Given the description of an element on the screen output the (x, y) to click on. 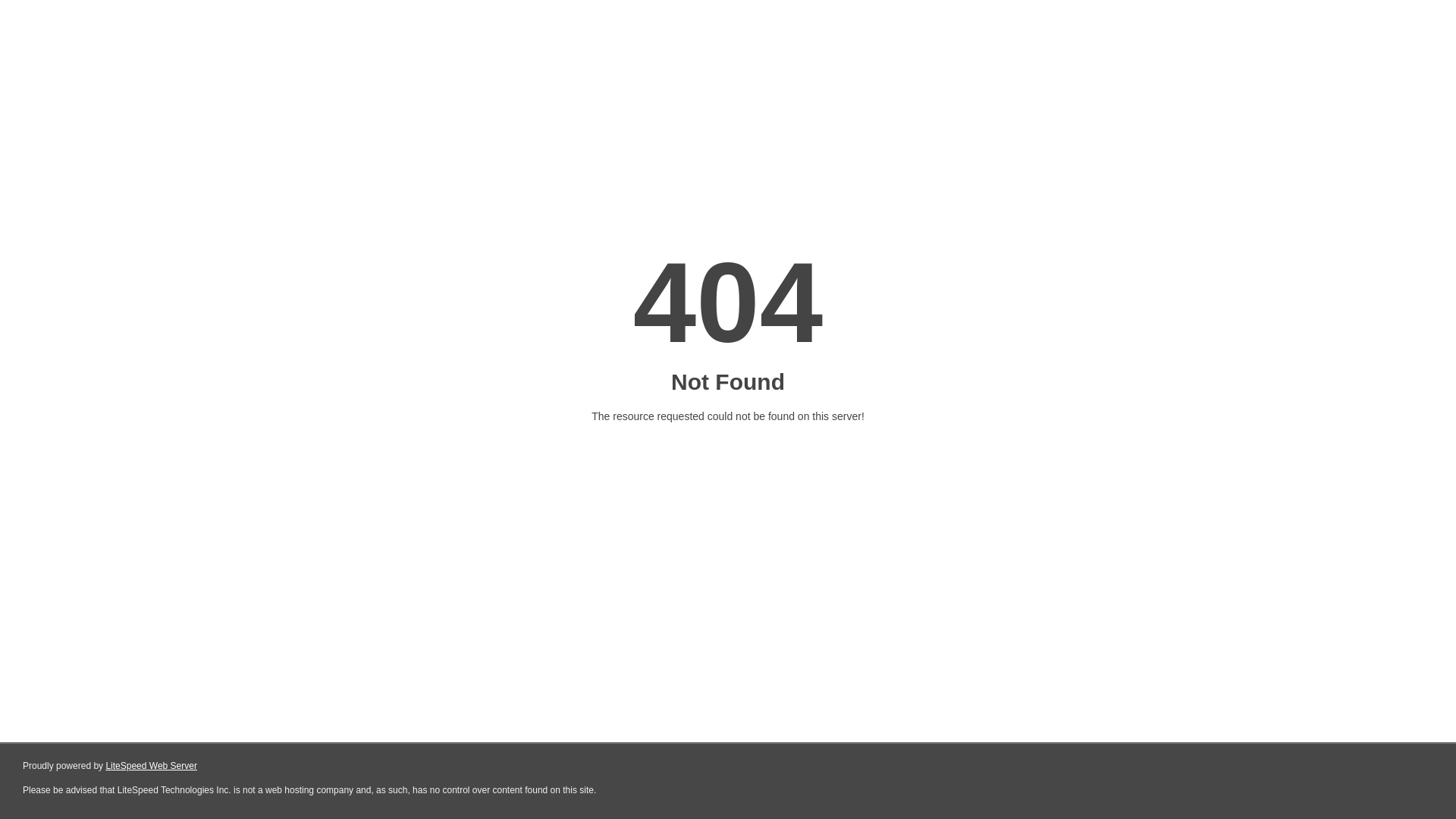
LiteSpeed Web Server Element type: text (151, 765)
